Given the description of an element on the screen output the (x, y) to click on. 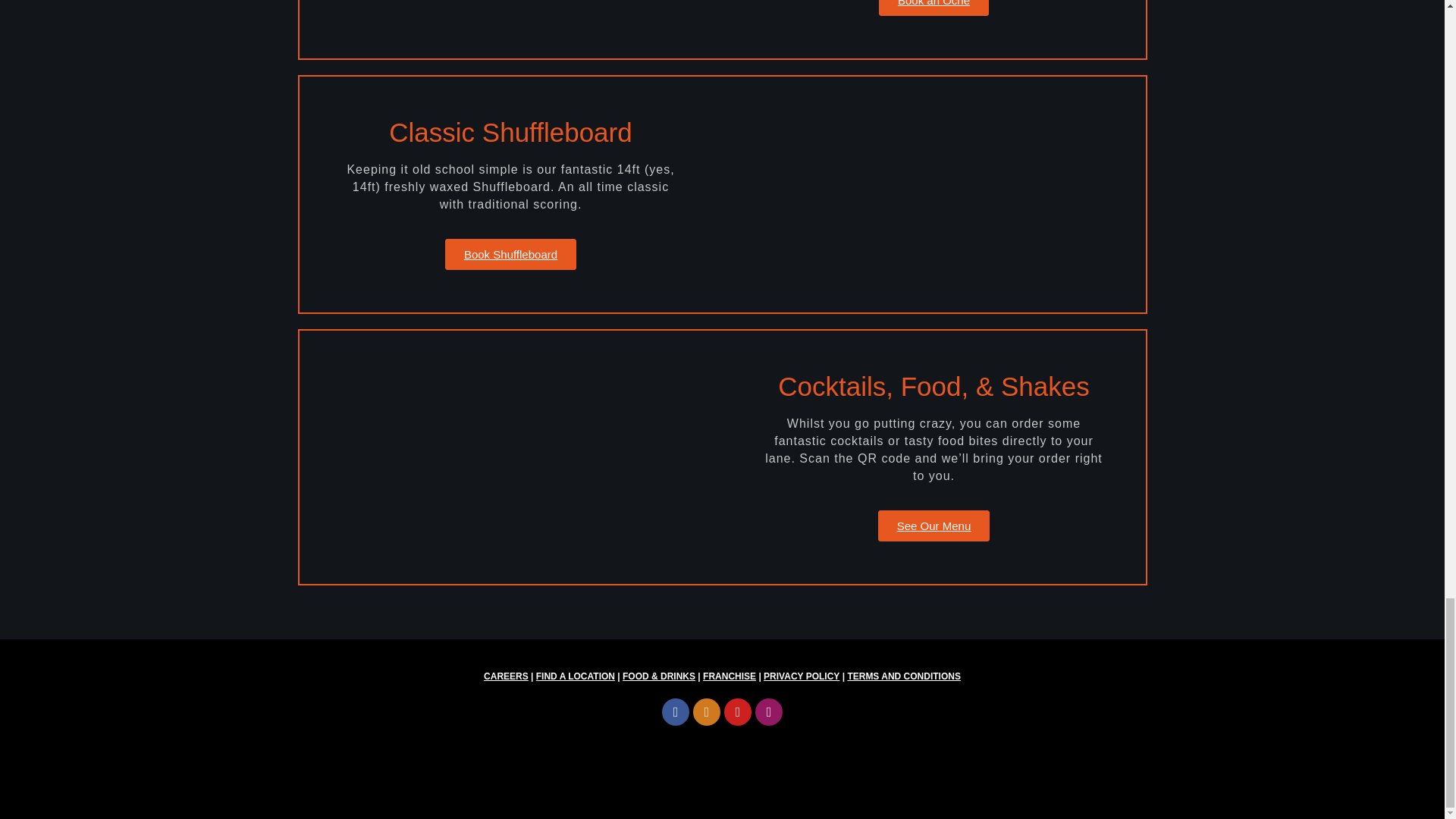
FRANCHISE (729, 675)
See Our Menu (933, 525)
Book an Oche (933, 7)
FIND A LOCATION (574, 675)
TERMS AND CONDITIONS (903, 675)
Book Shuffleboard (510, 254)
PRIVACY POLICY (801, 675)
CAREERS (505, 675)
